Given the description of an element on the screen output the (x, y) to click on. 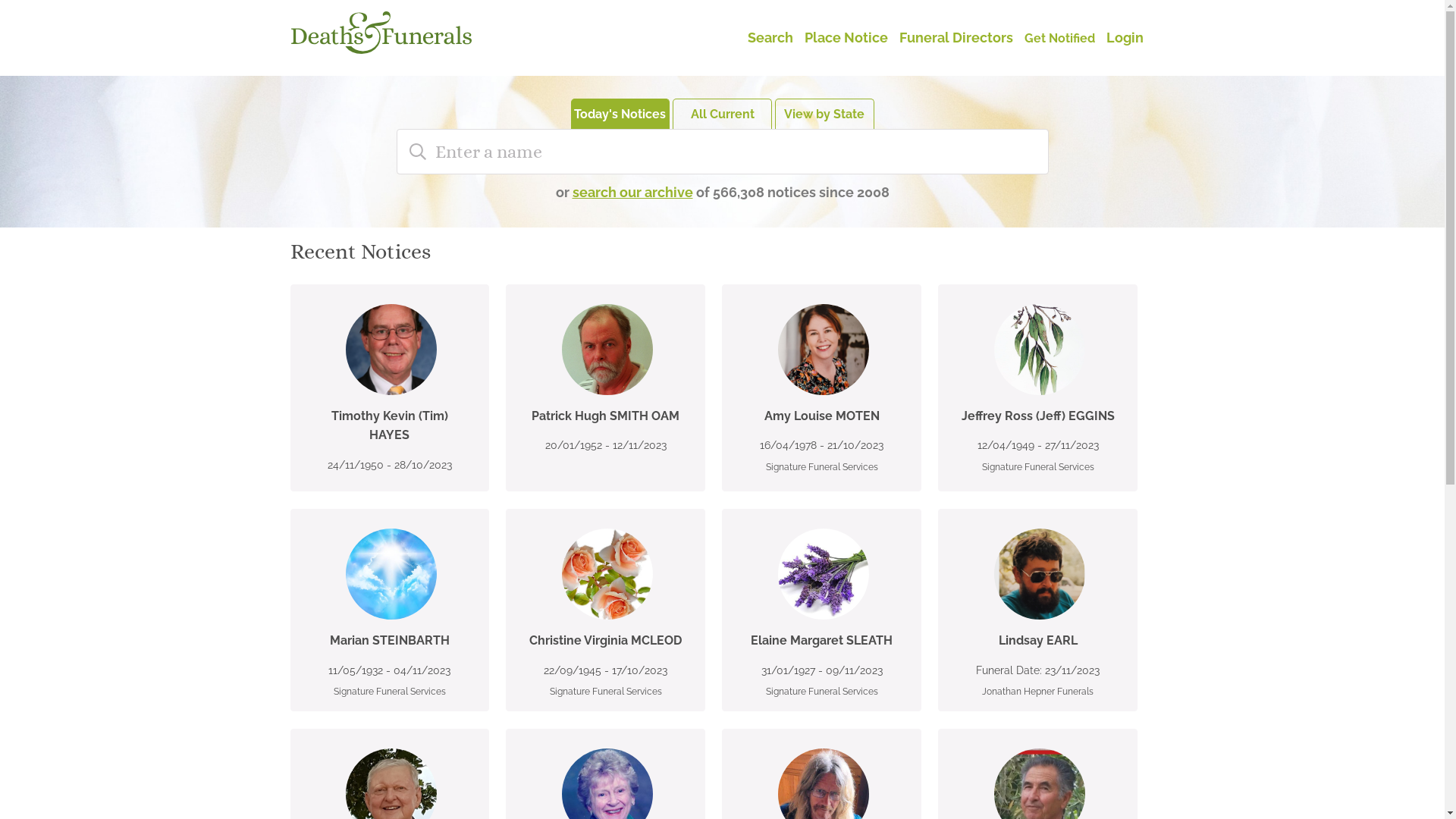
Login Element type: text (1123, 37)
Timothy Kevin (Tim) HAYES
24/11/1950 - 28/10/2023 Element type: text (388, 388)
Patrick Hugh SMITH OAM
20/01/1952 - 12/11/2023 Element type: text (604, 379)
Search Element type: text (770, 37)
Place Notice Element type: text (845, 37)
Funeral Directors Element type: text (956, 37)
search our archive Element type: text (631, 192)
